Given the description of an element on the screen output the (x, y) to click on. 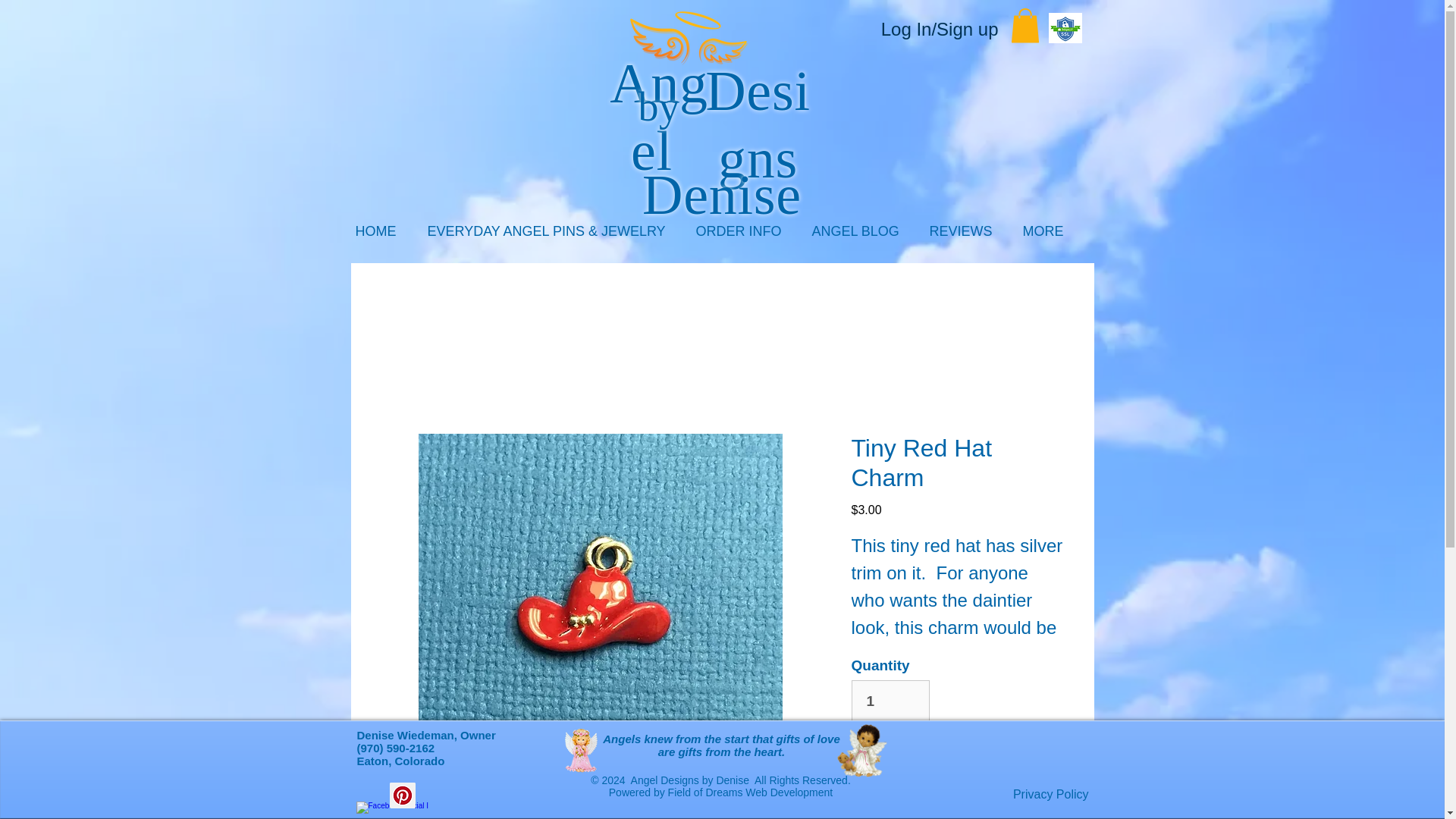
Angel  (658, 116)
1 (890, 700)
Denise (722, 194)
ANGEL BLOG (859, 235)
HOME (379, 235)
ORDER INFO (741, 235)
by  (658, 131)
Add to Cart (956, 761)
REVIEWS (963, 235)
Designs (757, 124)
